Given the description of an element on the screen output the (x, y) to click on. 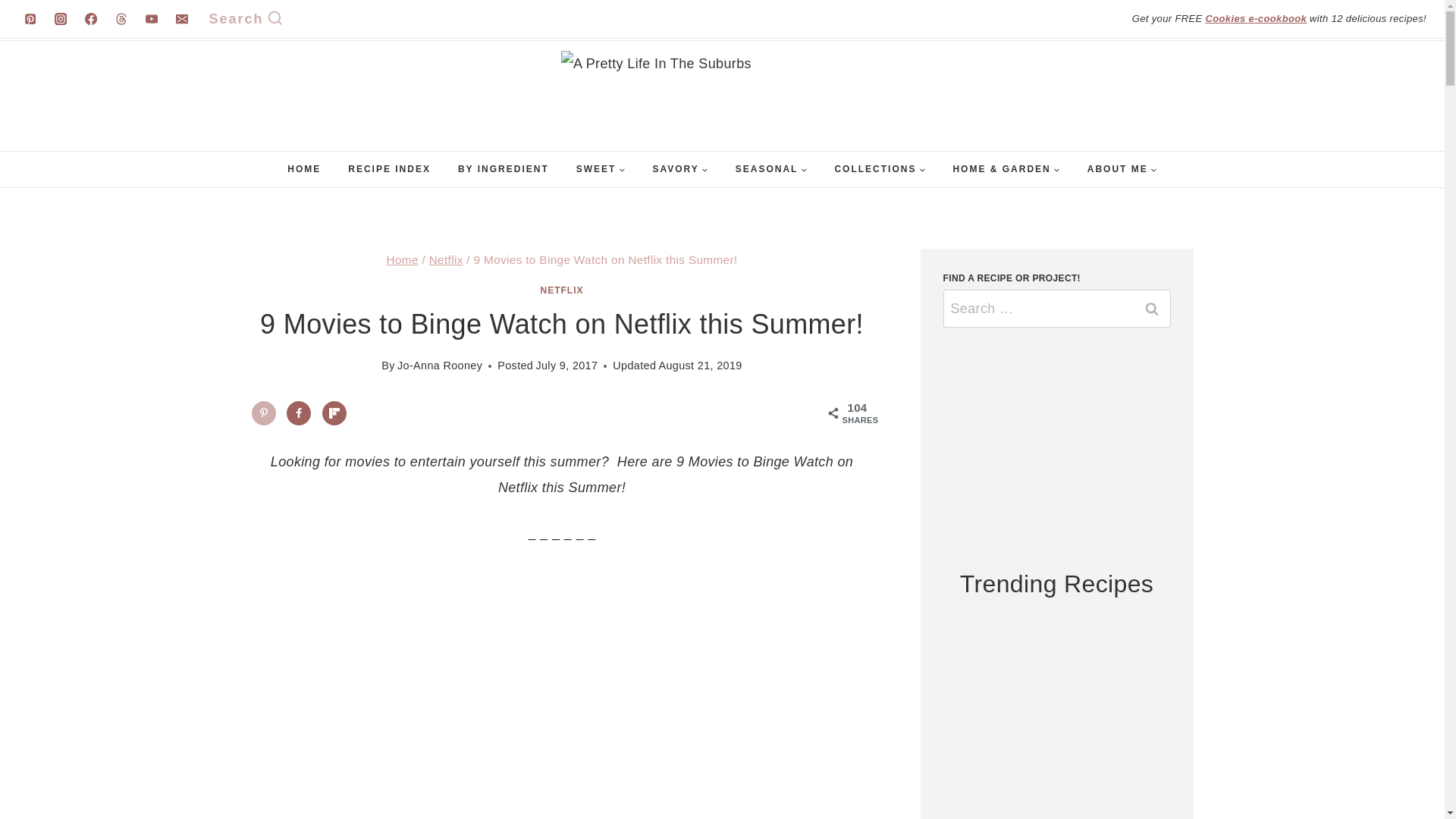
BY INGREDIENT (503, 169)
Share on Facebook (298, 413)
SAVORY (679, 169)
Cookies e-cookbook (1256, 18)
Search (245, 18)
SWEET (600, 169)
Save to Pinterest (263, 413)
HOME (303, 169)
Search (1151, 308)
Search (1151, 308)
RECIPE INDEX (389, 169)
Share on Flipboard (333, 413)
